Given the description of an element on the screen output the (x, y) to click on. 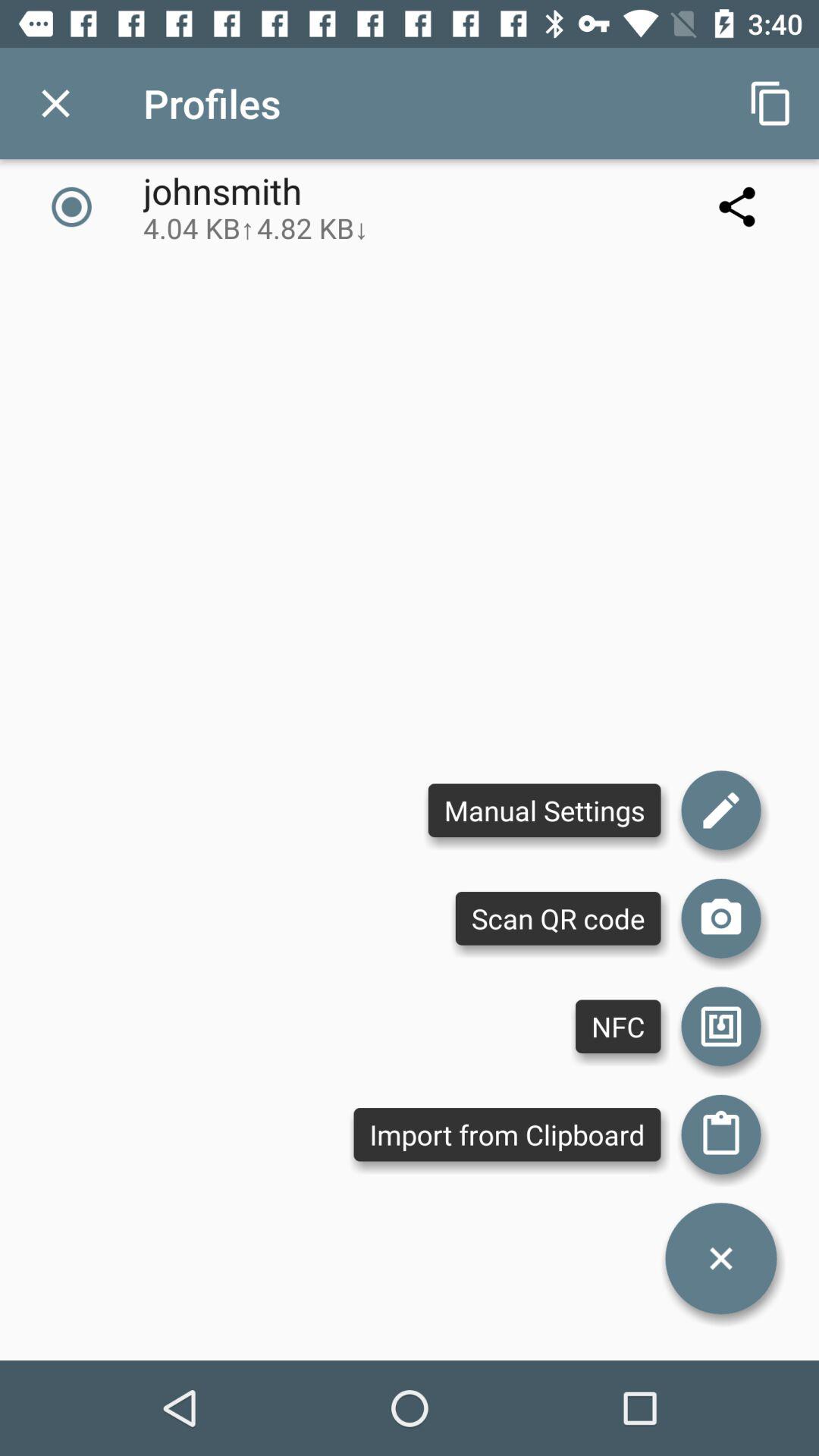
flip to manual settings item (544, 810)
